Given the description of an element on the screen output the (x, y) to click on. 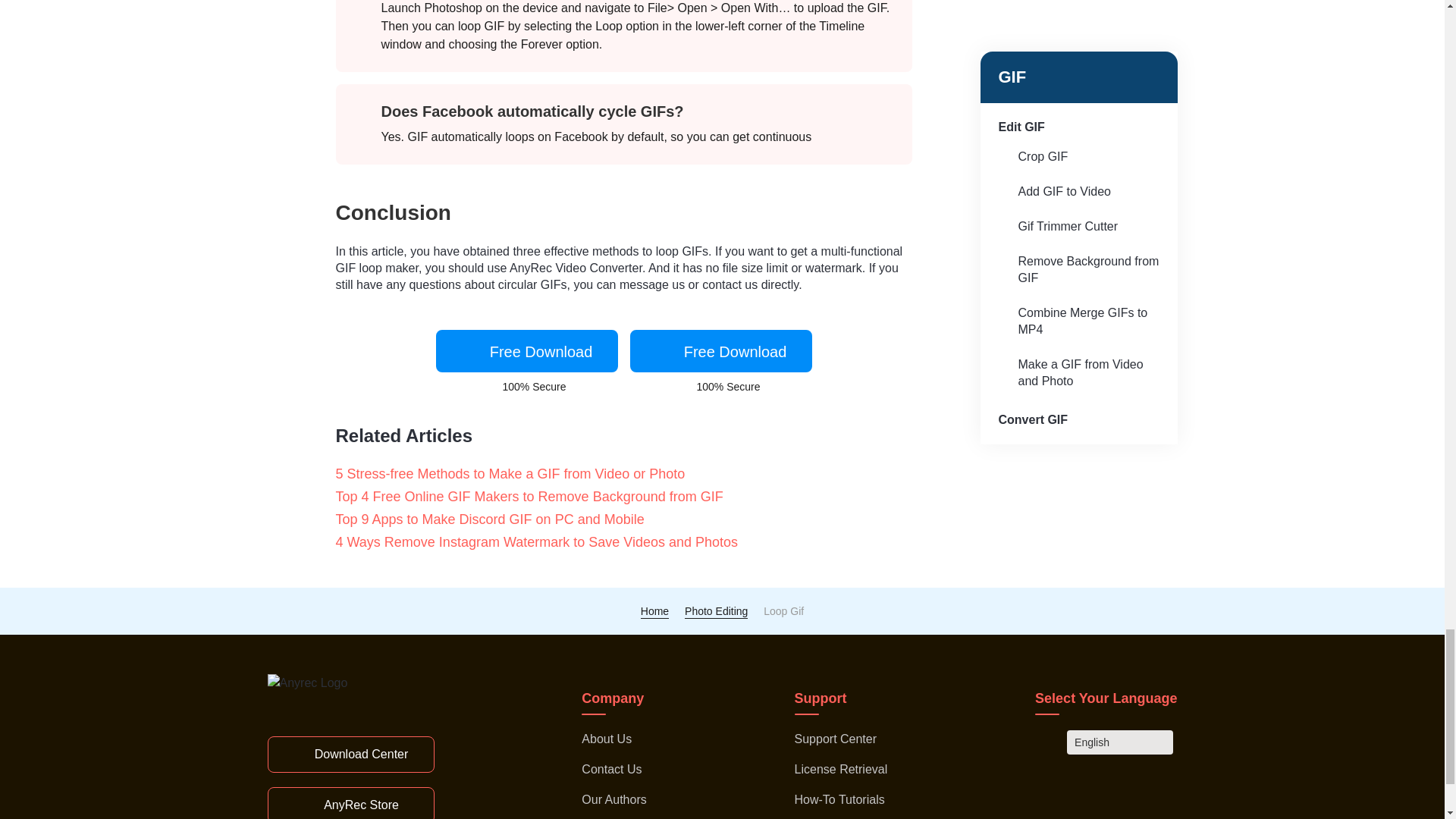
About Us (605, 738)
Top 4 Free Online GIF Makers to Remove Background from GIF (543, 496)
4 Ways Remove Instagram Watermark to Save Videos and Photos (551, 542)
Free Download (719, 351)
Photo Editing (716, 611)
5 Stress-free Methods to Make a GIF from Video or Photo (524, 474)
Free Download (526, 351)
Contact Us (611, 768)
Top 9 Apps to Make Discord GIF on PC and Mobile (504, 519)
Download Center (349, 754)
